Given the description of an element on the screen output the (x, y) to click on. 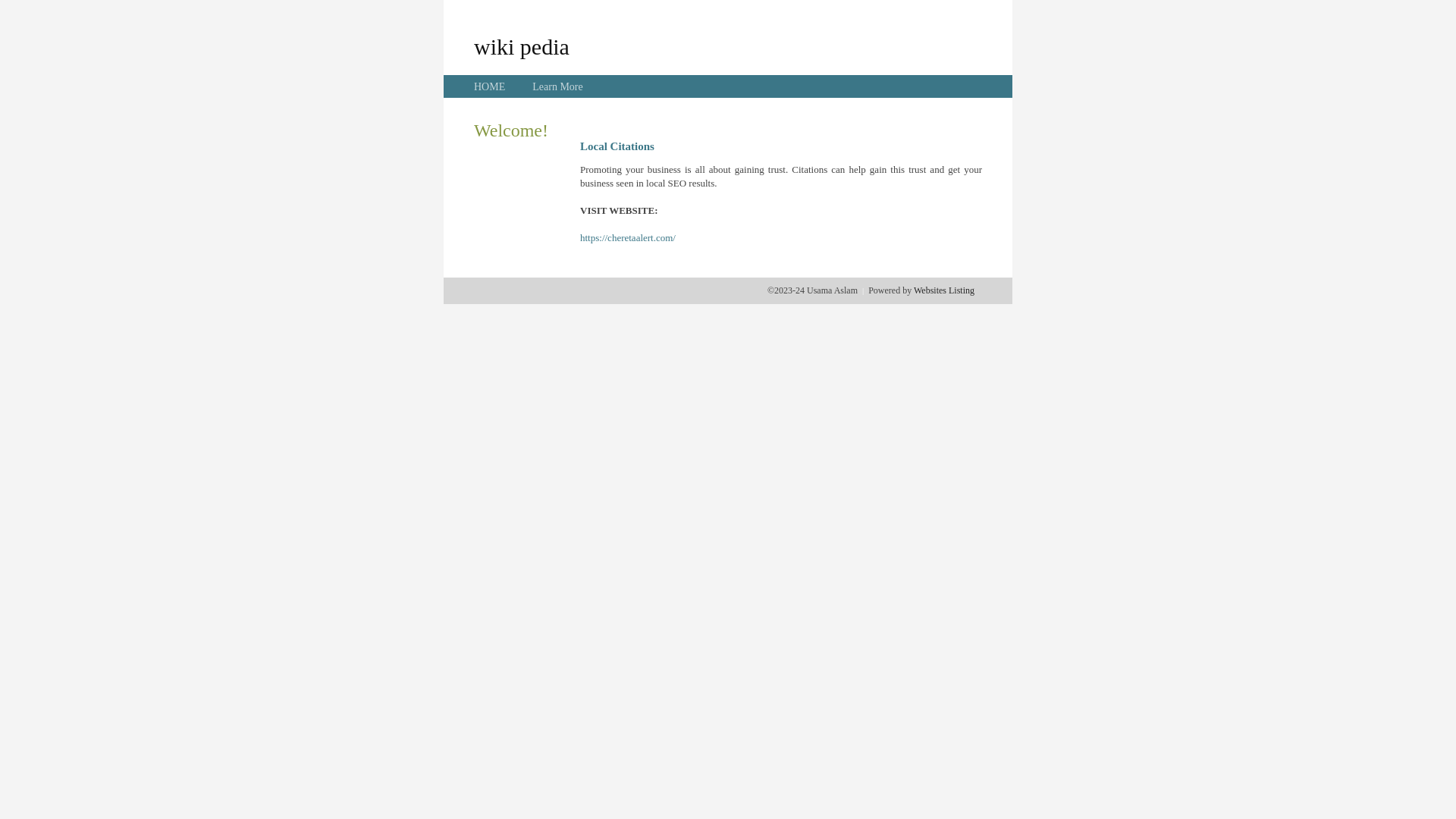
Learn More Element type: text (557, 86)
https://cheretaalert.com/ Element type: text (627, 237)
Websites Listing Element type: text (943, 290)
wiki pedia Element type: text (521, 46)
HOME Element type: text (489, 86)
